Given the description of an element on the screen output the (x, y) to click on. 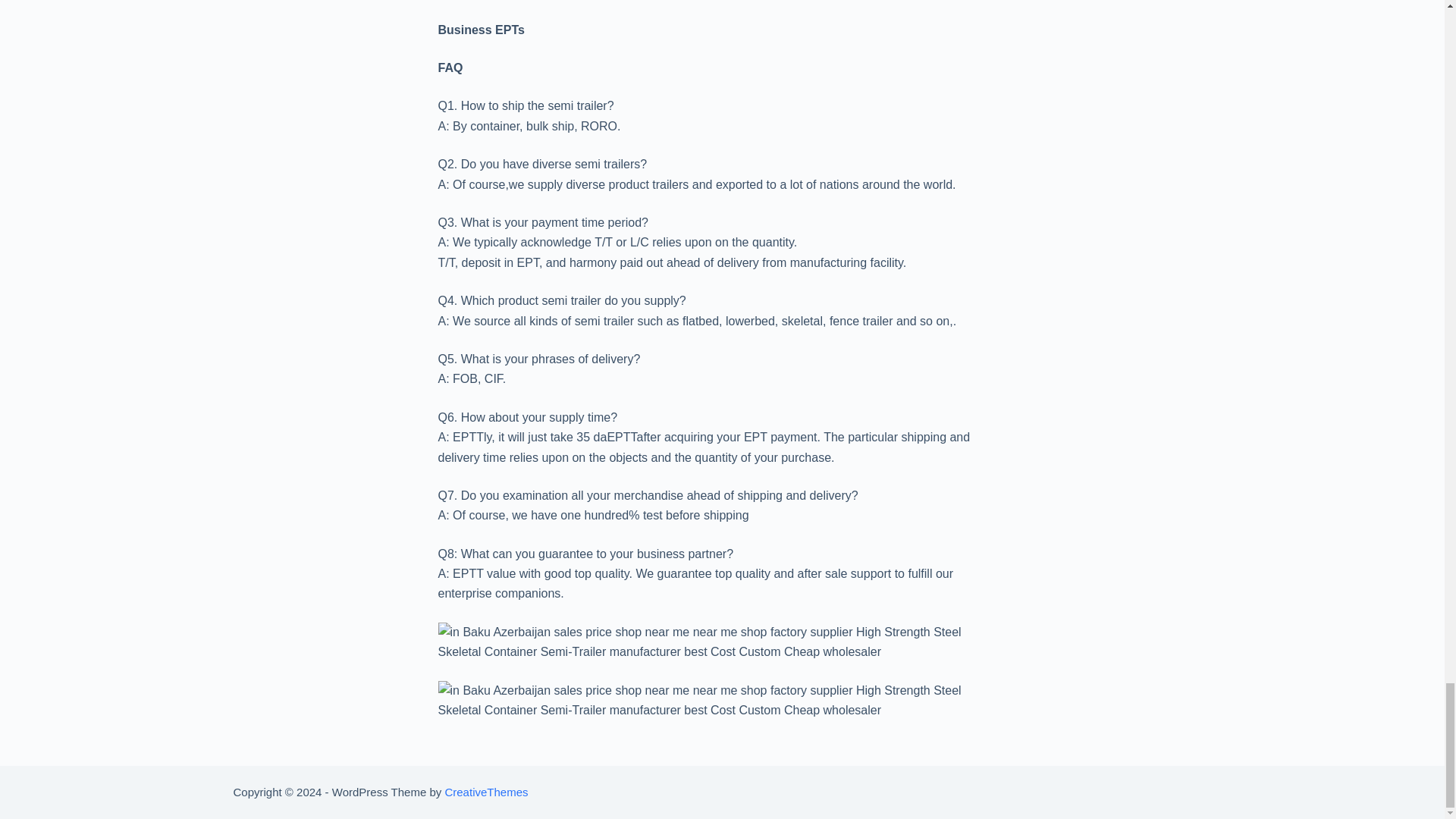
CreativeThemes (485, 791)
